Given the description of an element on the screen output the (x, y) to click on. 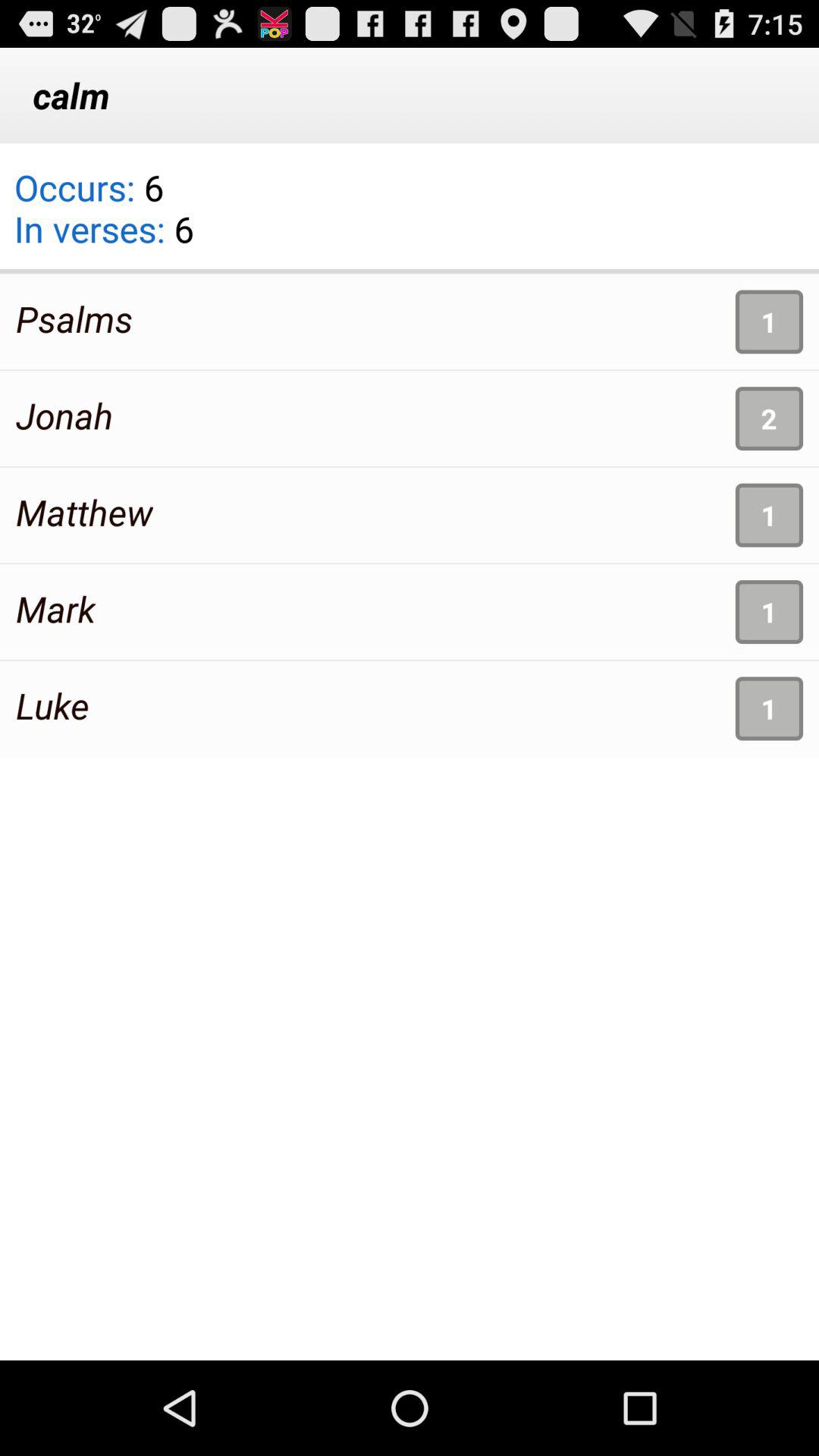
turn off icon below matthew app (55, 608)
